Given the description of an element on the screen output the (x, y) to click on. 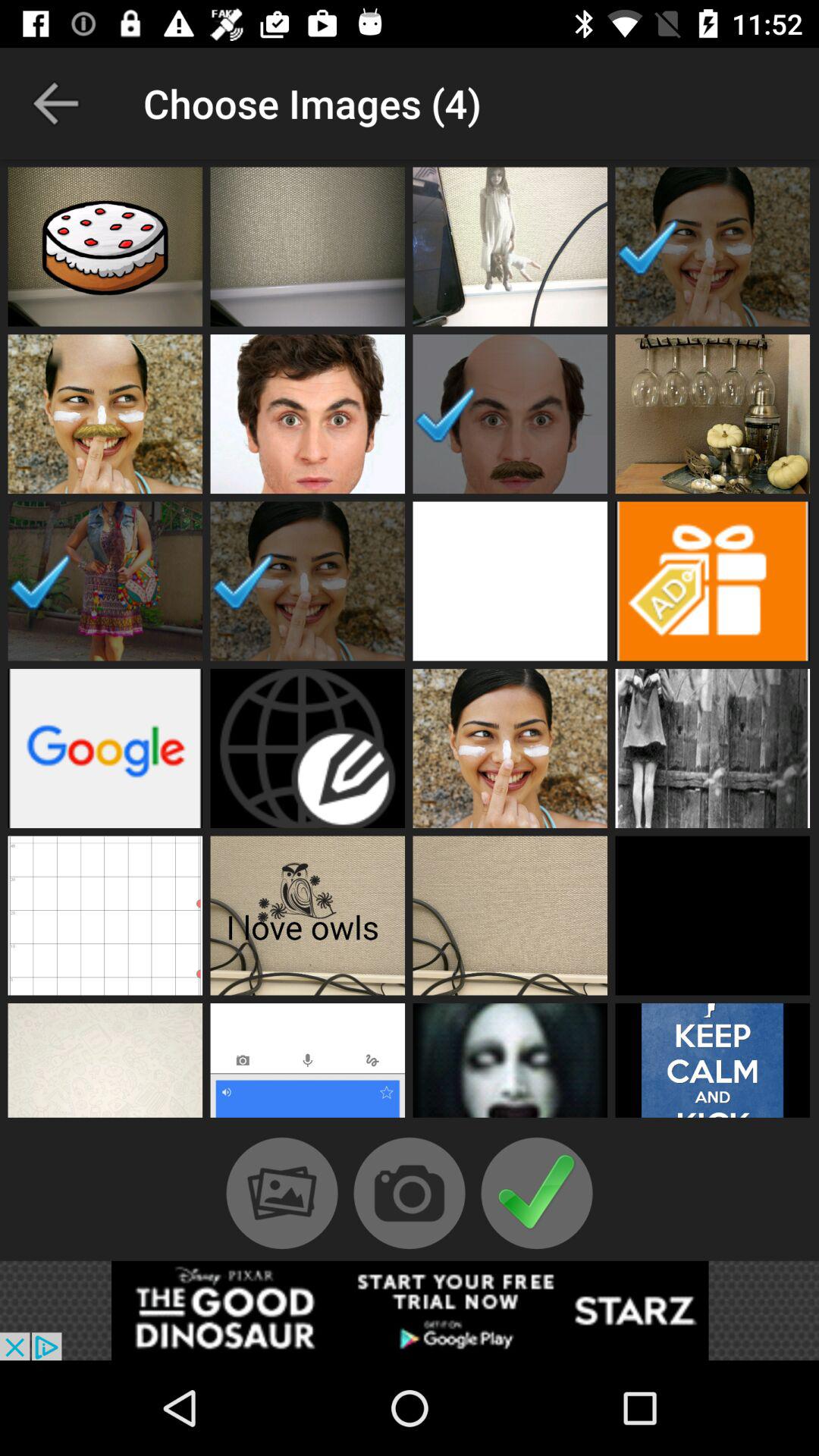
toggle photo/image selection (712, 246)
